Given the description of an element on the screen output the (x, y) to click on. 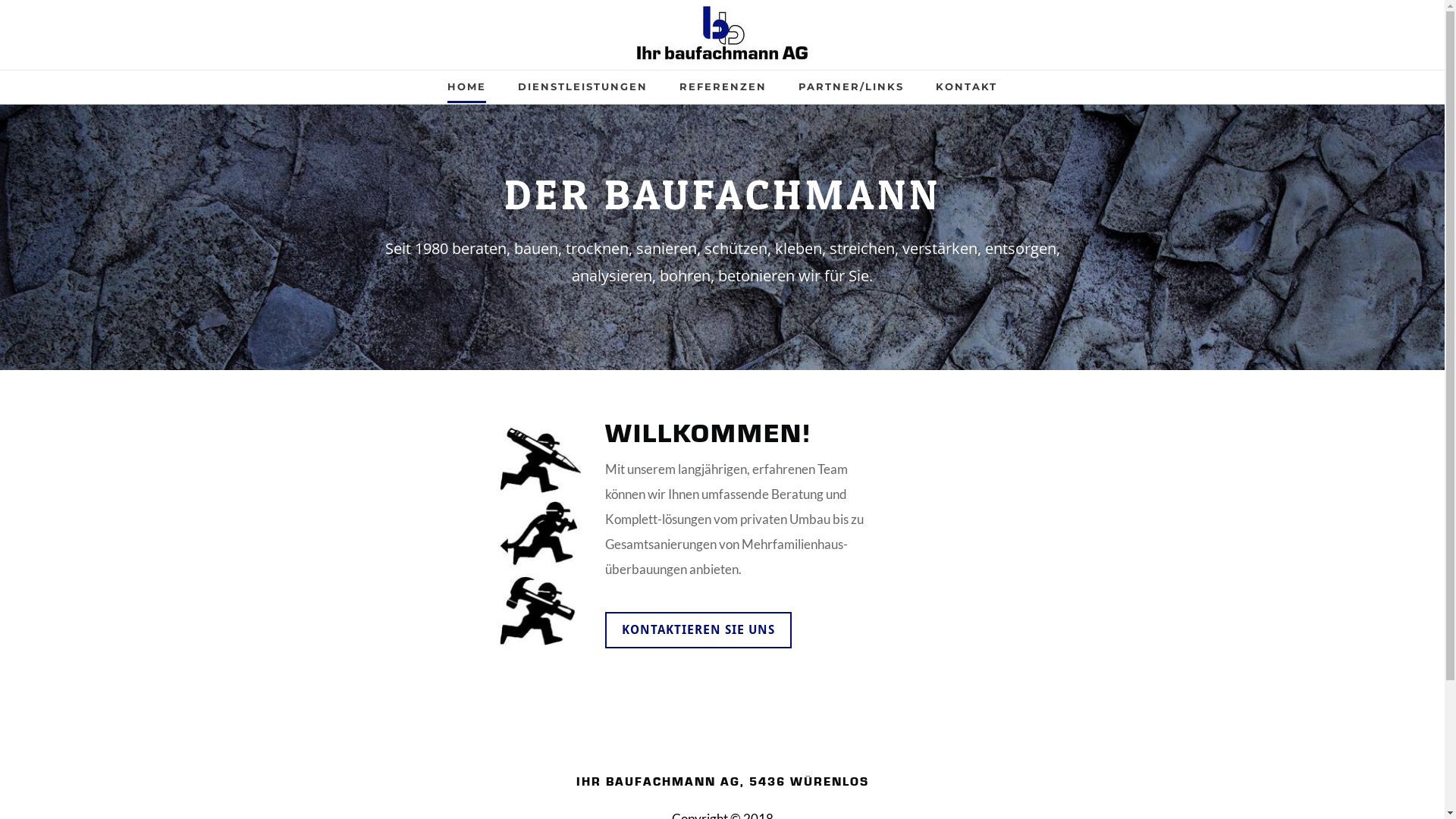
KONTAKT Element type: text (966, 91)
KONTAKTIEREN SIE UNS Element type: text (698, 629)
REFERENZEN Element type: text (722, 91)
DIENSTLEISTUNGEN Element type: text (582, 91)
HOME Element type: text (466, 91)
PARTNER/LINKS Element type: text (850, 91)
